Given the description of an element on the screen output the (x, y) to click on. 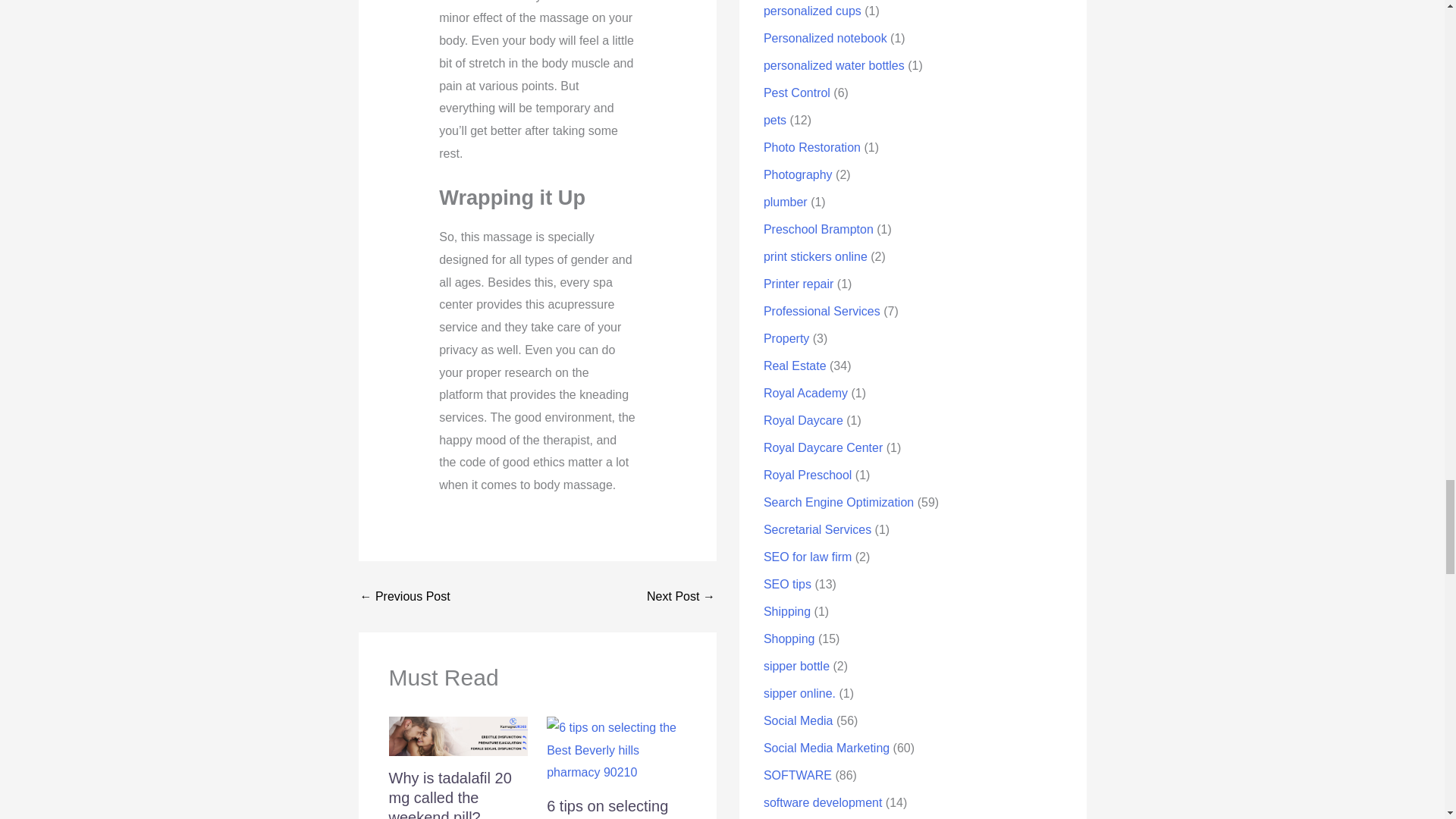
Apply These 10 Secret Techniques To Improve Electricity Bill (404, 596)
What effect is stress having on the body's sexuality? (680, 596)
